Given the description of an element on the screen output the (x, y) to click on. 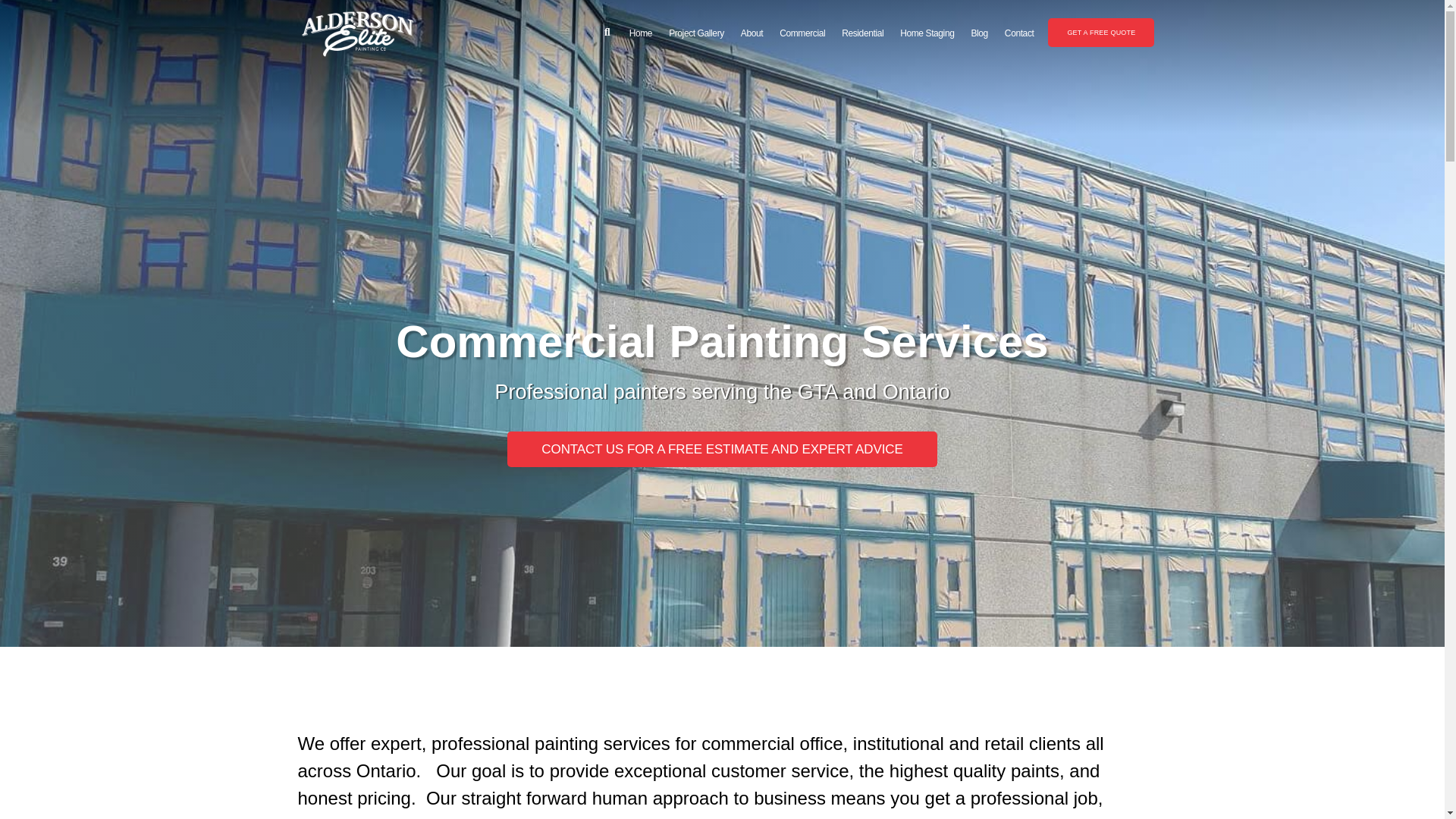
Project Gallery (696, 32)
Commercial (801, 32)
GET A FREE QUOTE (1101, 32)
Contact (1018, 32)
Residential (861, 32)
Home Staging (926, 32)
Blog (978, 32)
Home (641, 32)
About (751, 32)
